Given the description of an element on the screen output the (x, y) to click on. 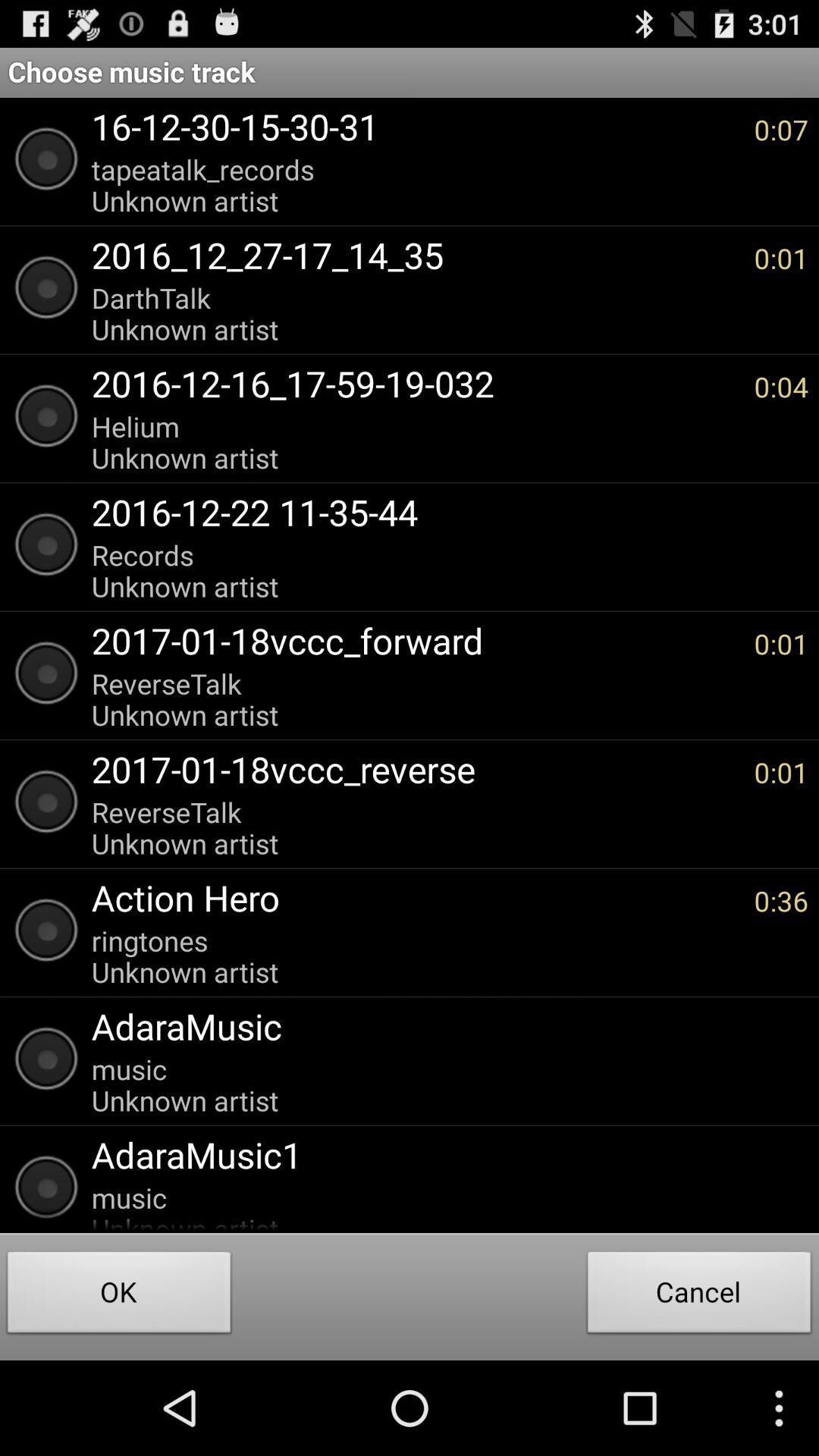
launch icon below the music
unknown artist app (441, 1154)
